Given the description of an element on the screen output the (x, y) to click on. 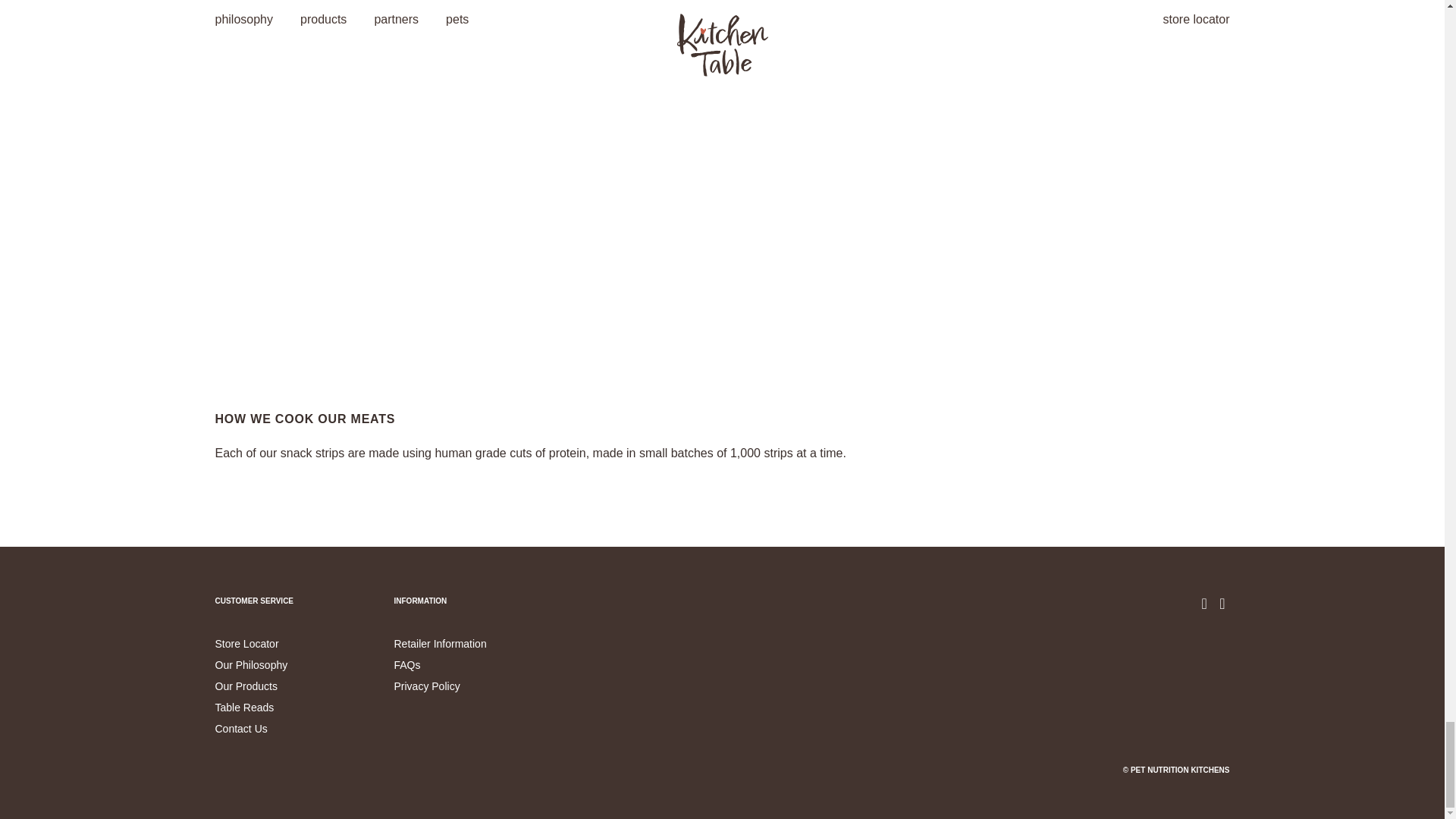
Our Philosophy (251, 664)
Privacy Policy (427, 686)
CUSTOMER SERVICE (254, 601)
Retailer Information (440, 644)
INFORMATION (420, 601)
HOW WE COOK OUR MEATS (305, 418)
FAQs (407, 664)
Store Locator (247, 644)
Contact Us (241, 728)
Our Products (246, 686)
